Given the description of an element on the screen output the (x, y) to click on. 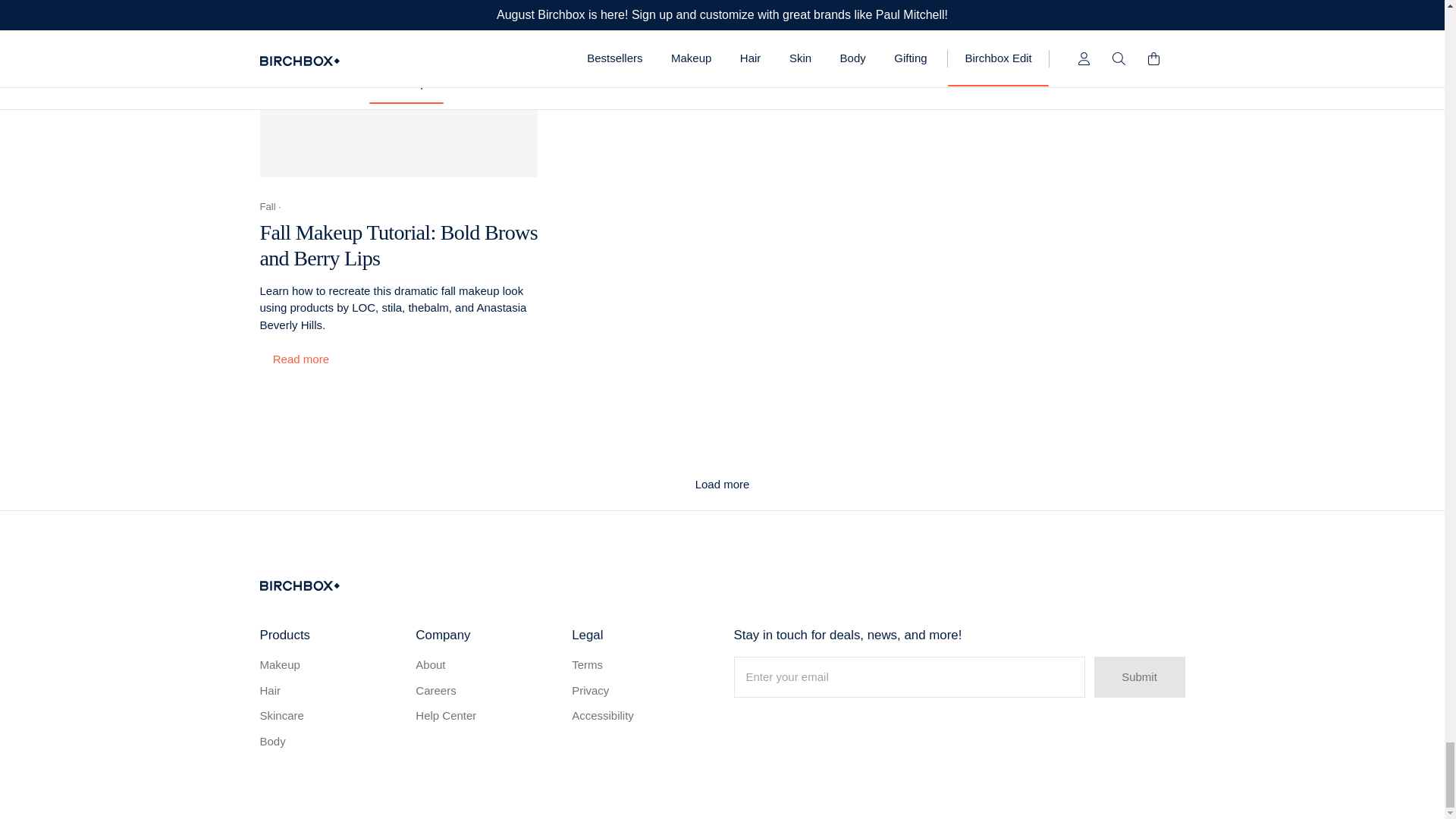
Birchbox (299, 585)
